Given the description of an element on the screen output the (x, y) to click on. 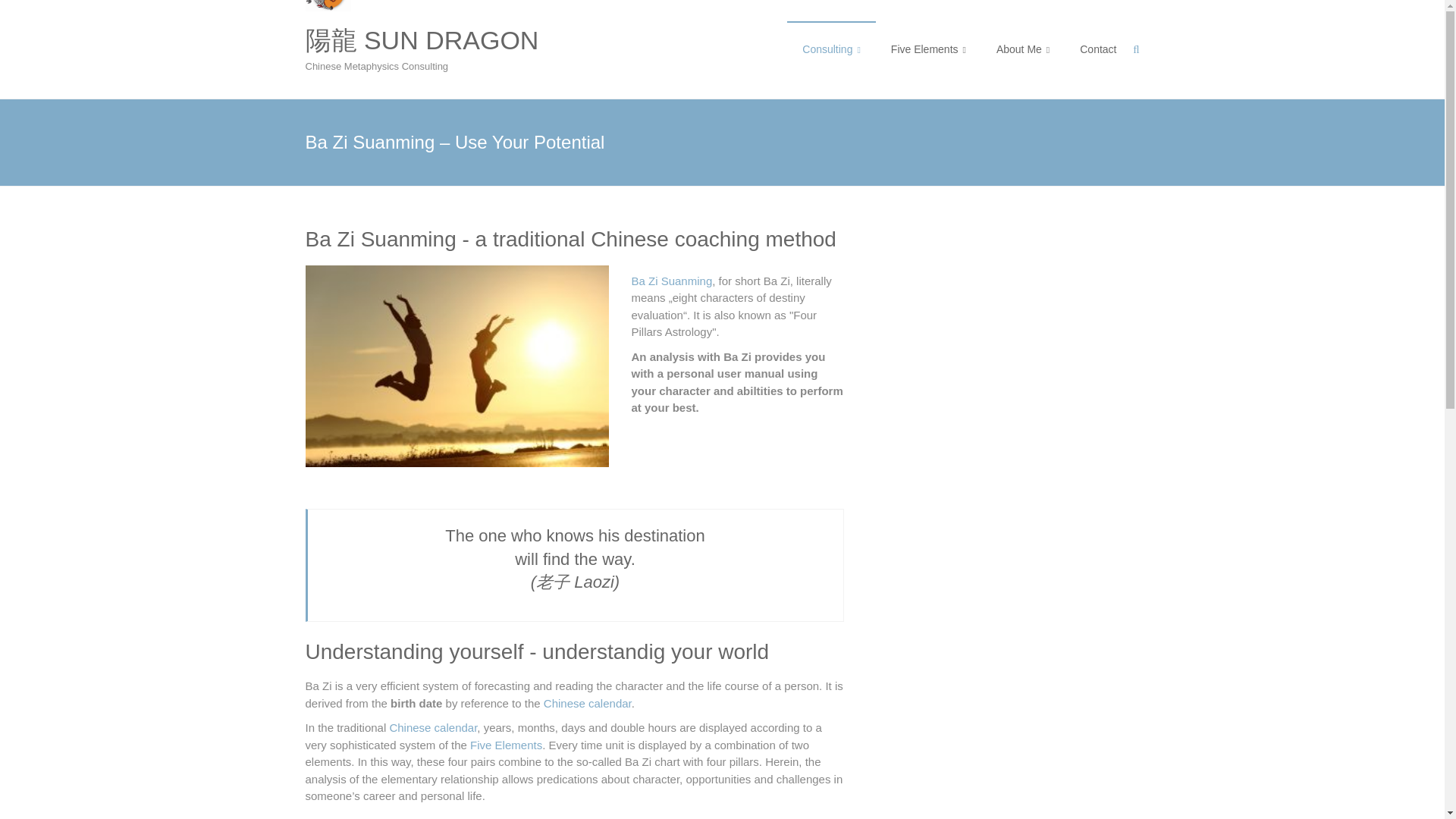
About Me (1022, 49)
Sun Dragon newsletter (1029, 286)
Five Elements (505, 744)
Consulting (831, 49)
Five Elements (928, 49)
Chinese calendar (432, 727)
Sun Dragon newsletter (1029, 286)
Ba Zi Suanming (670, 280)
Chinese calendar (587, 703)
